Given the description of an element on the screen output the (x, y) to click on. 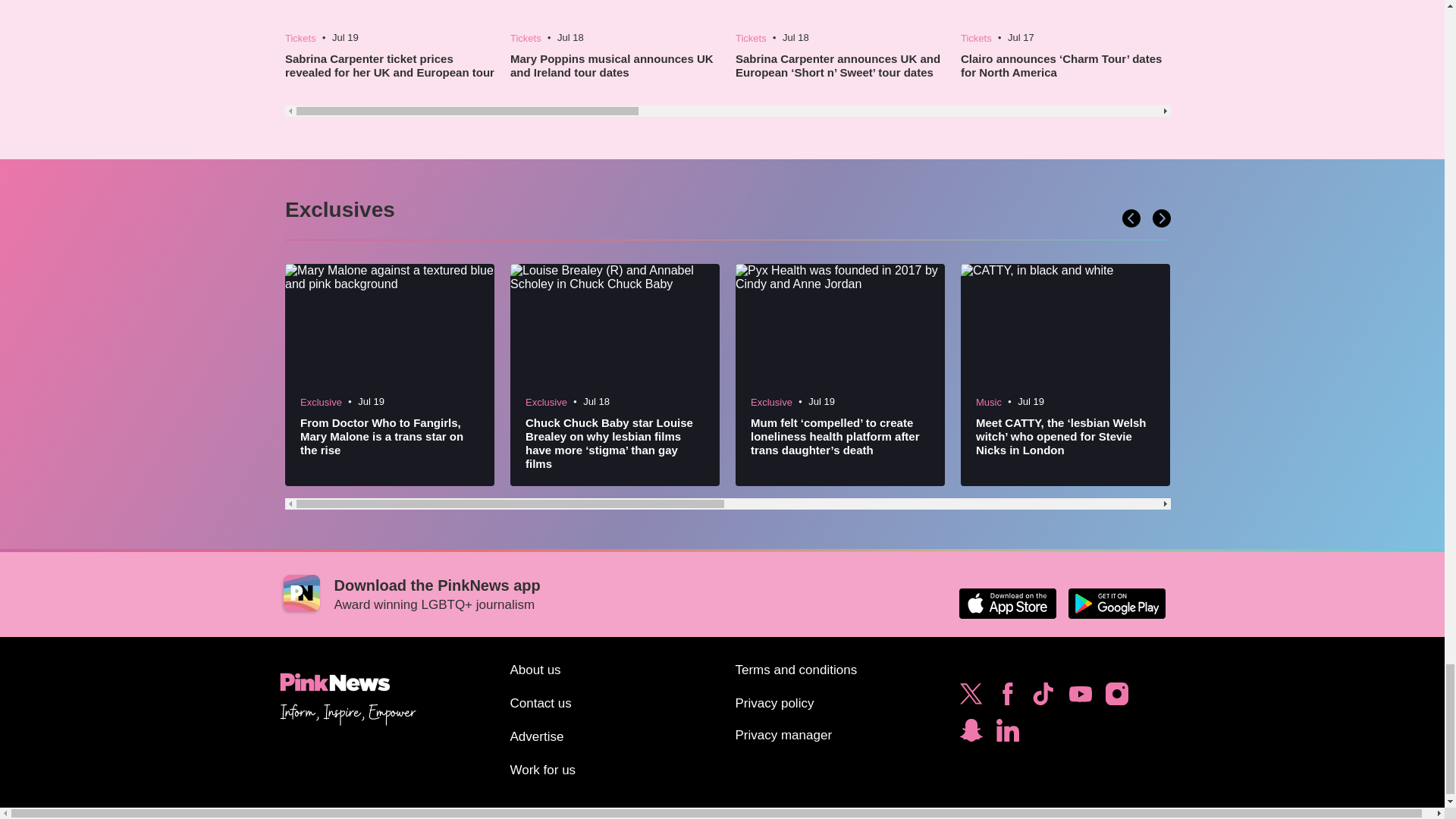
Follow PinkNews on Instagram (1116, 697)
Follow PinkNews on TikTok (1042, 697)
Download the PinkNews app on Google Play (1115, 603)
Download the PinkNews app on the Apple App Store (1006, 603)
Follow PinkNews on Twitter (970, 697)
Subscribe to PinkNews on Snapchat (970, 733)
Subscribe to PinkNews on YouTube (1079, 697)
Follow PinkNews on LinkedIn (1007, 733)
